Given the description of an element on the screen output the (x, y) to click on. 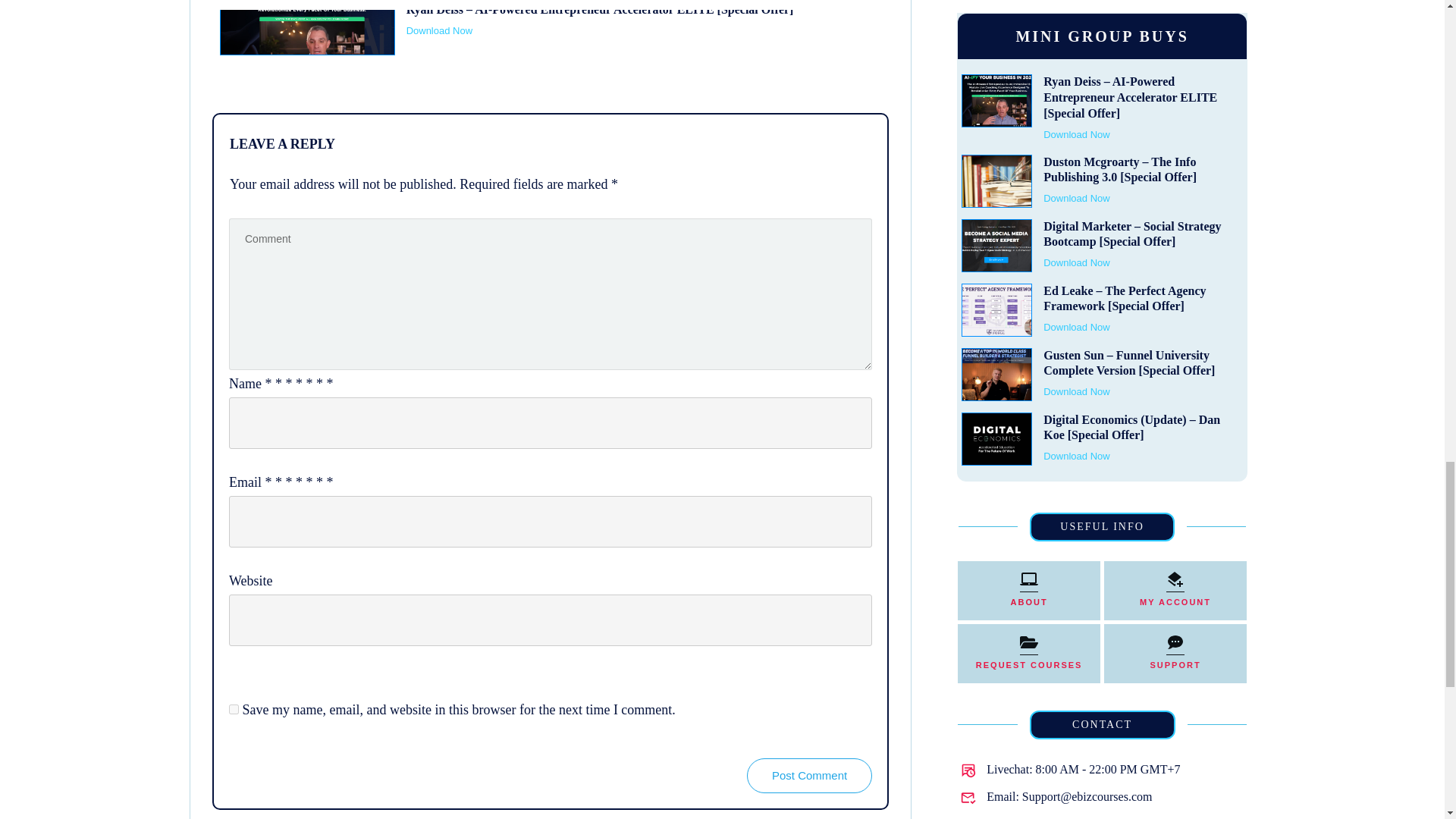
Download Now (438, 30)
yes (233, 709)
